Given the description of an element on the screen output the (x, y) to click on. 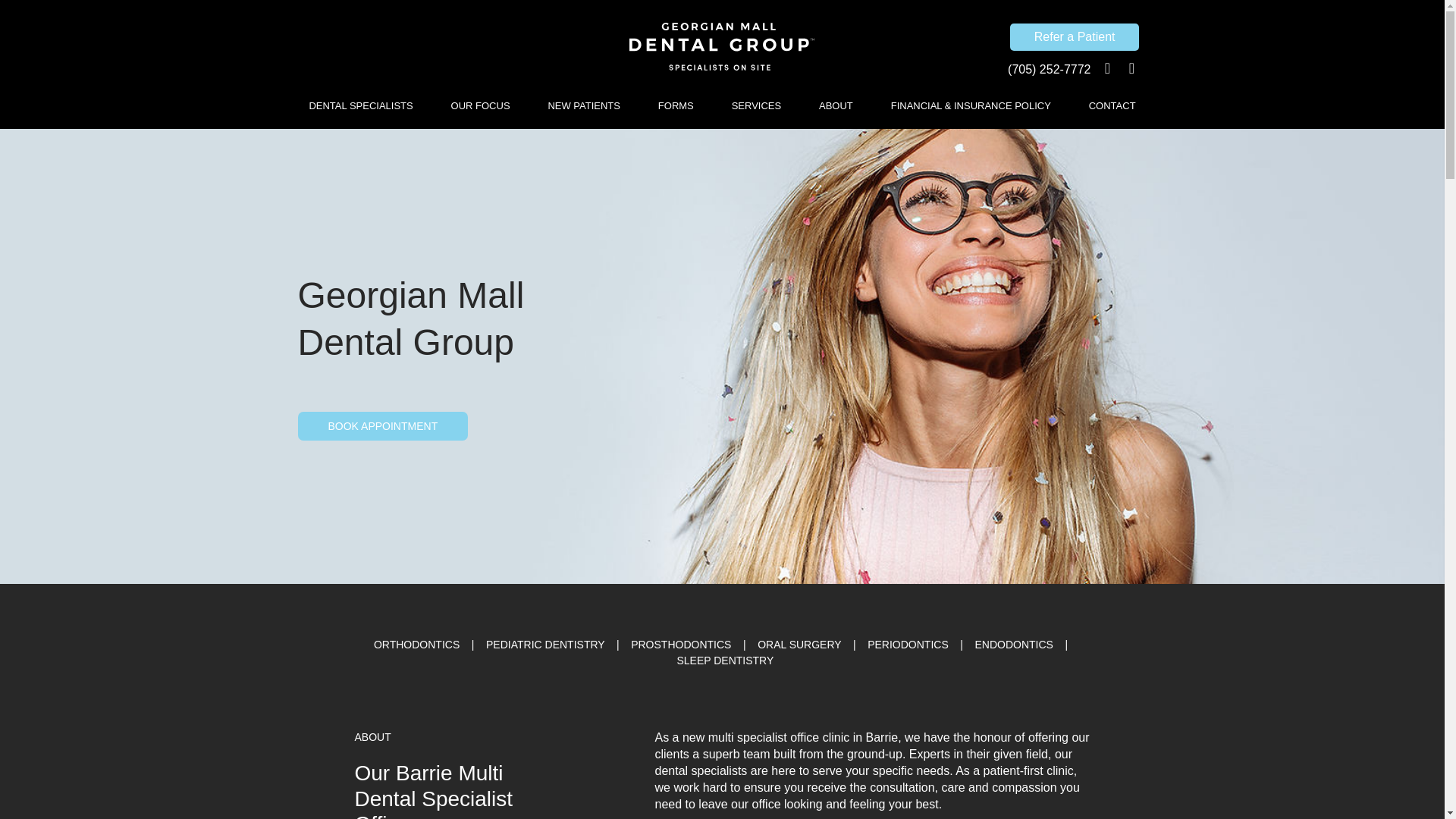
OUR FOCUS (480, 105)
Refer a Patient (1075, 36)
DENTAL SPECIALISTS (360, 105)
